Given the description of an element on the screen output the (x, y) to click on. 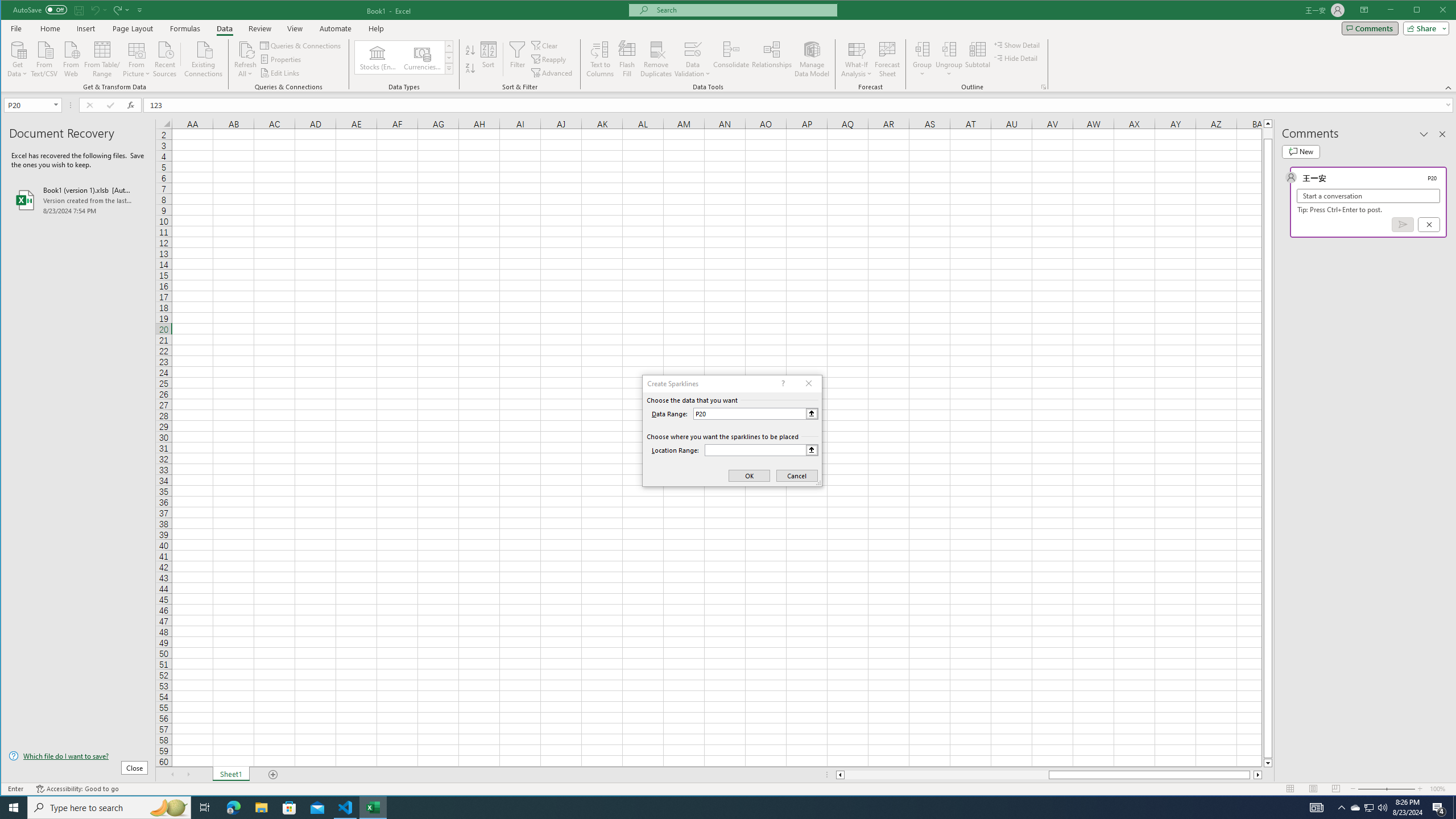
New comment (1300, 151)
